Given the description of an element on the screen output the (x, y) to click on. 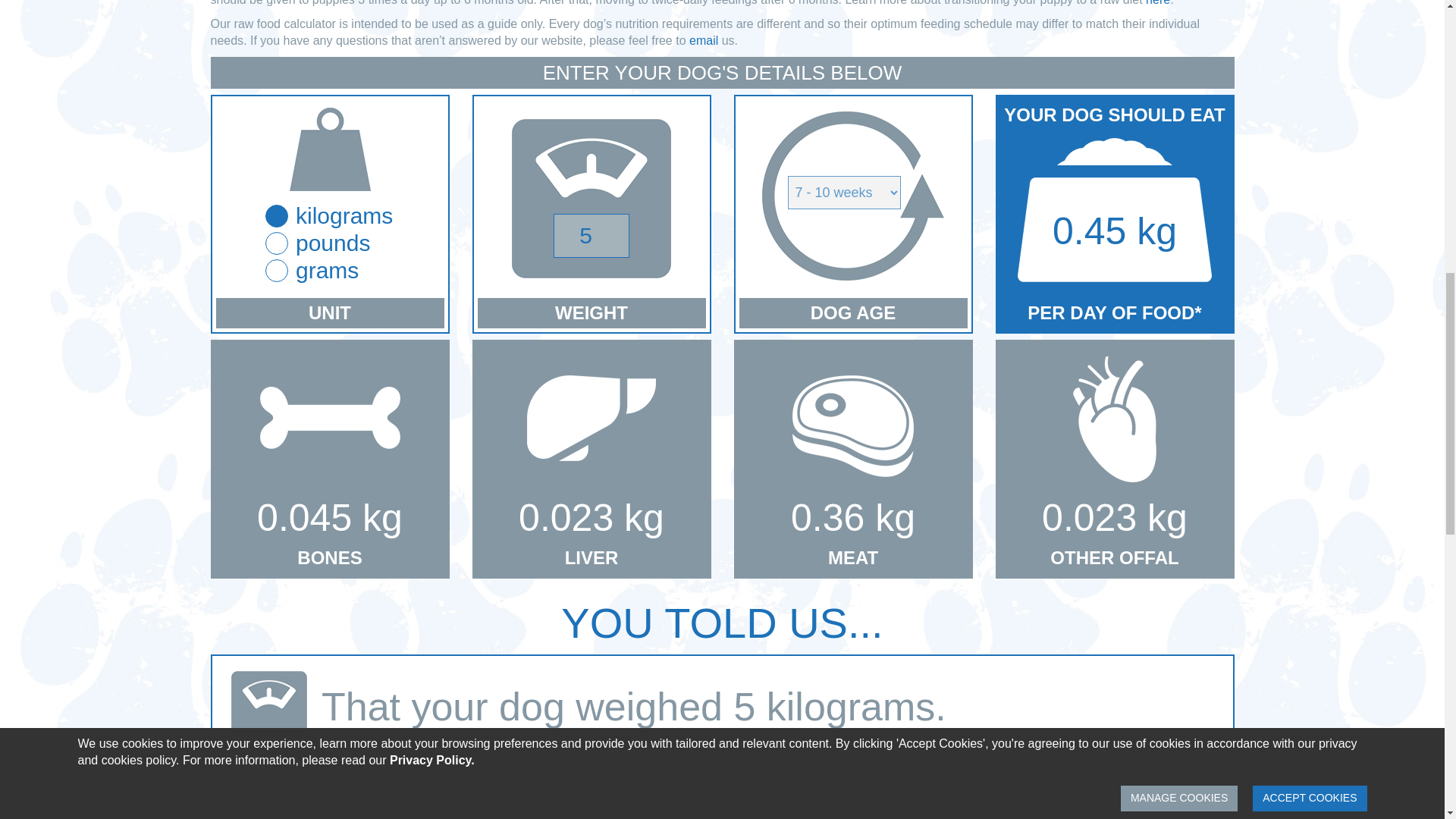
5 (590, 235)
